Given the description of an element on the screen output the (x, y) to click on. 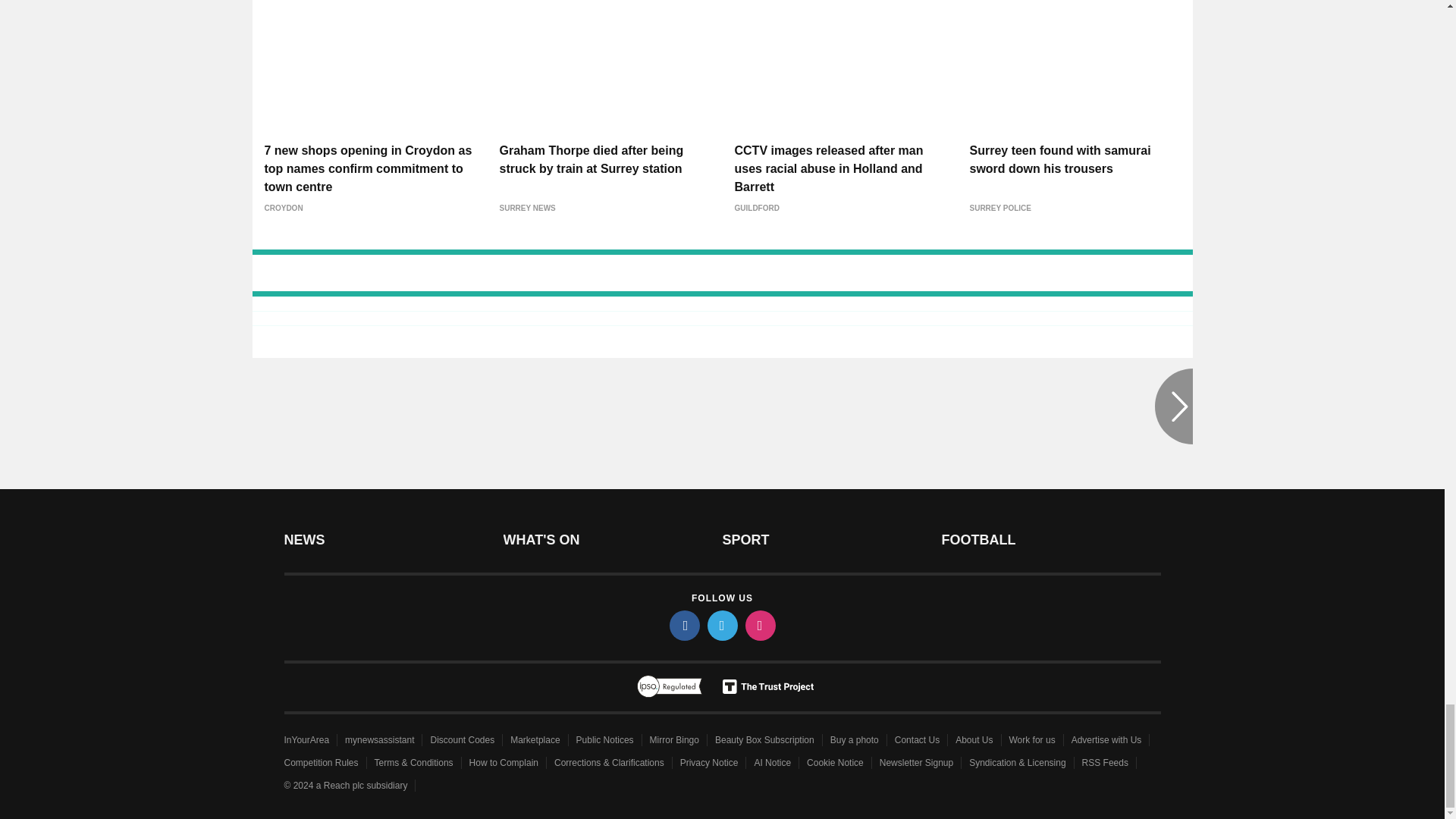
facebook (683, 625)
instagram (759, 625)
twitter (721, 625)
